Given the description of an element on the screen output the (x, y) to click on. 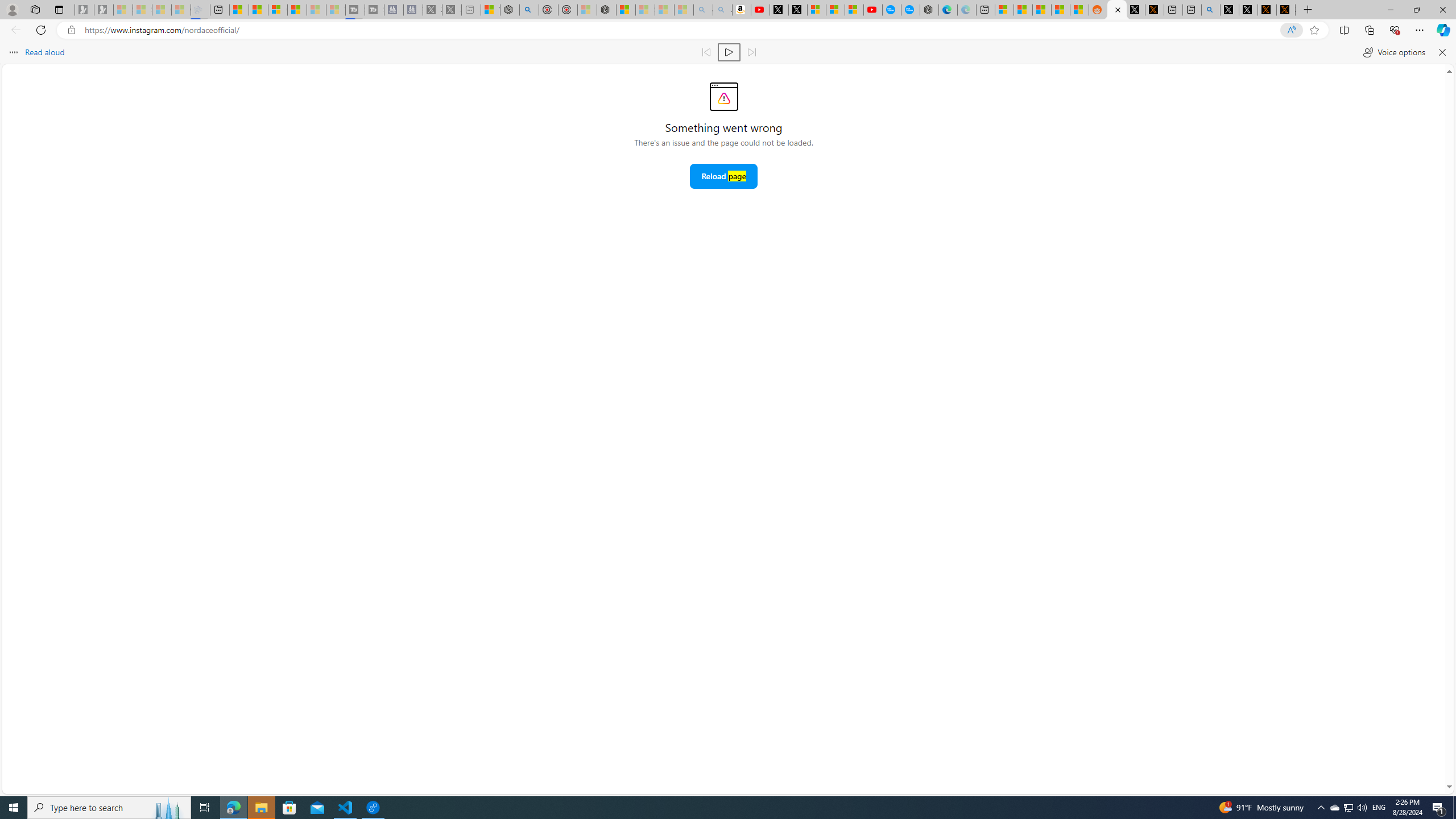
Overview (277, 9)
